Given the description of an element on the screen output the (x, y) to click on. 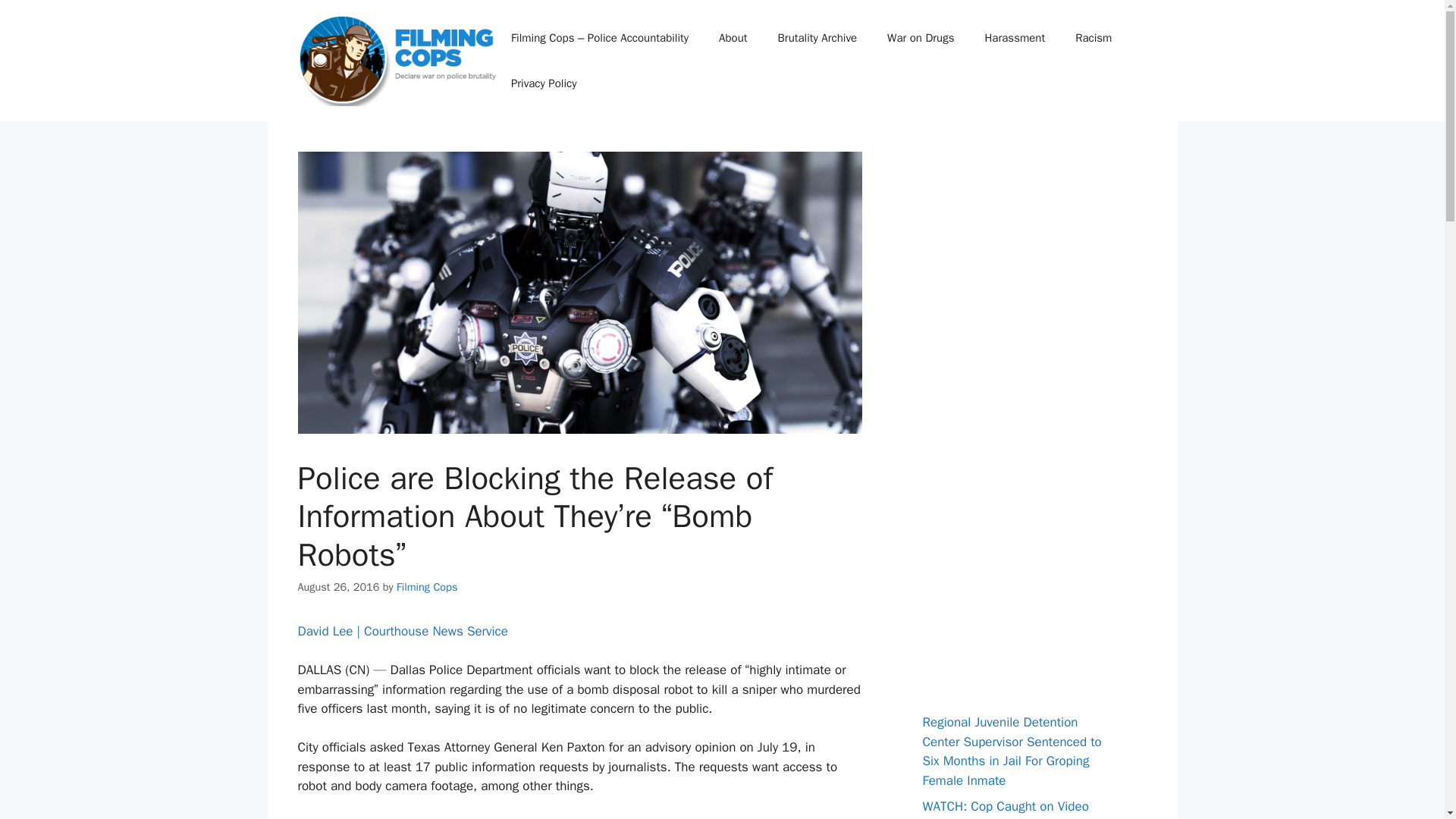
Filming Cops (426, 586)
View all posts by Filming Cops (426, 586)
War on Drugs (920, 37)
Racism (1092, 37)
Harassment (1014, 37)
Brutality Archive (817, 37)
Privacy Policy (544, 83)
About (732, 37)
